Given the description of an element on the screen output the (x, y) to click on. 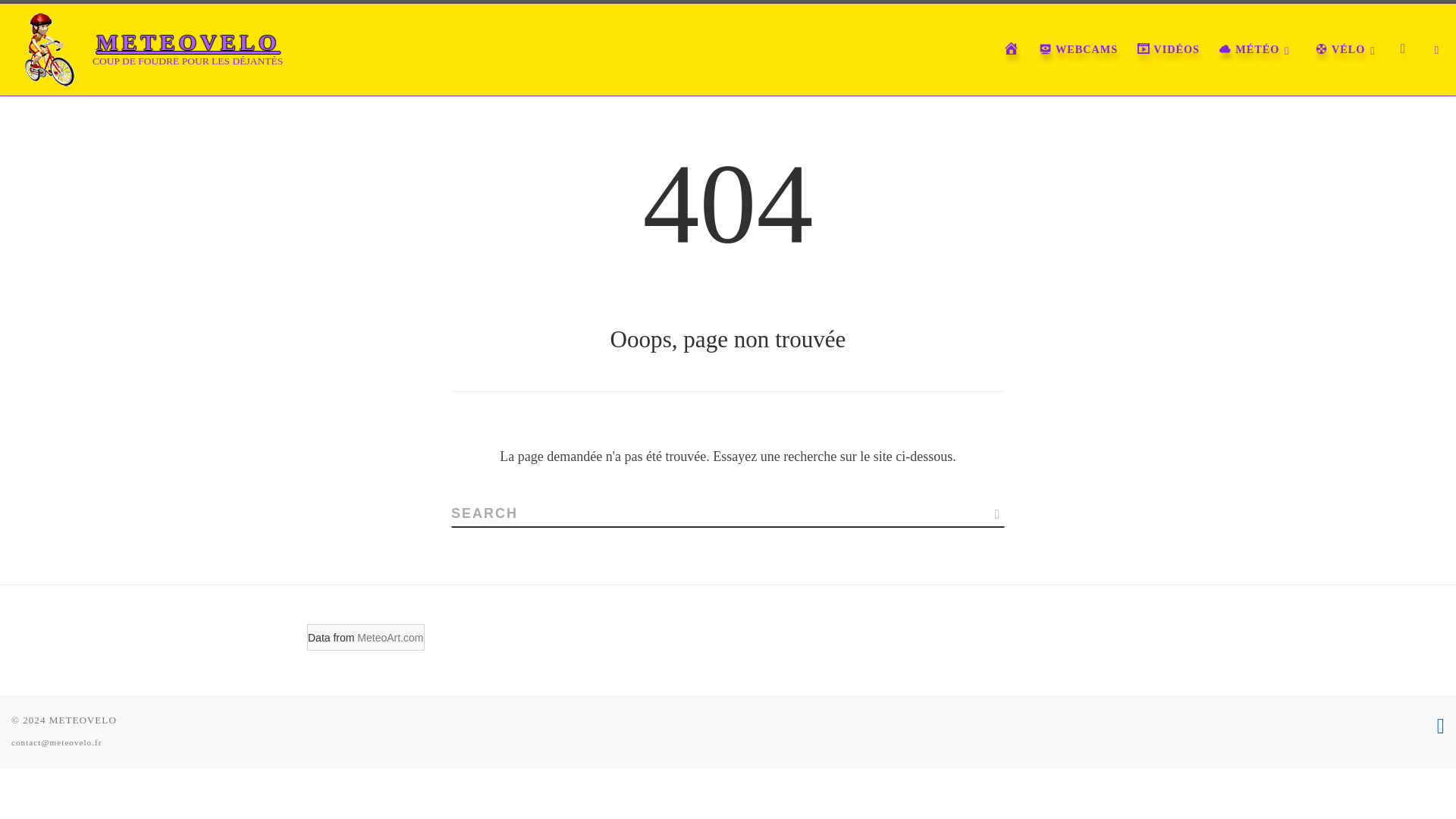
METEOVELO (82, 719)
METEOVELO (188, 42)
WEBCAMS (1077, 49)
